Given the description of an element on the screen output the (x, y) to click on. 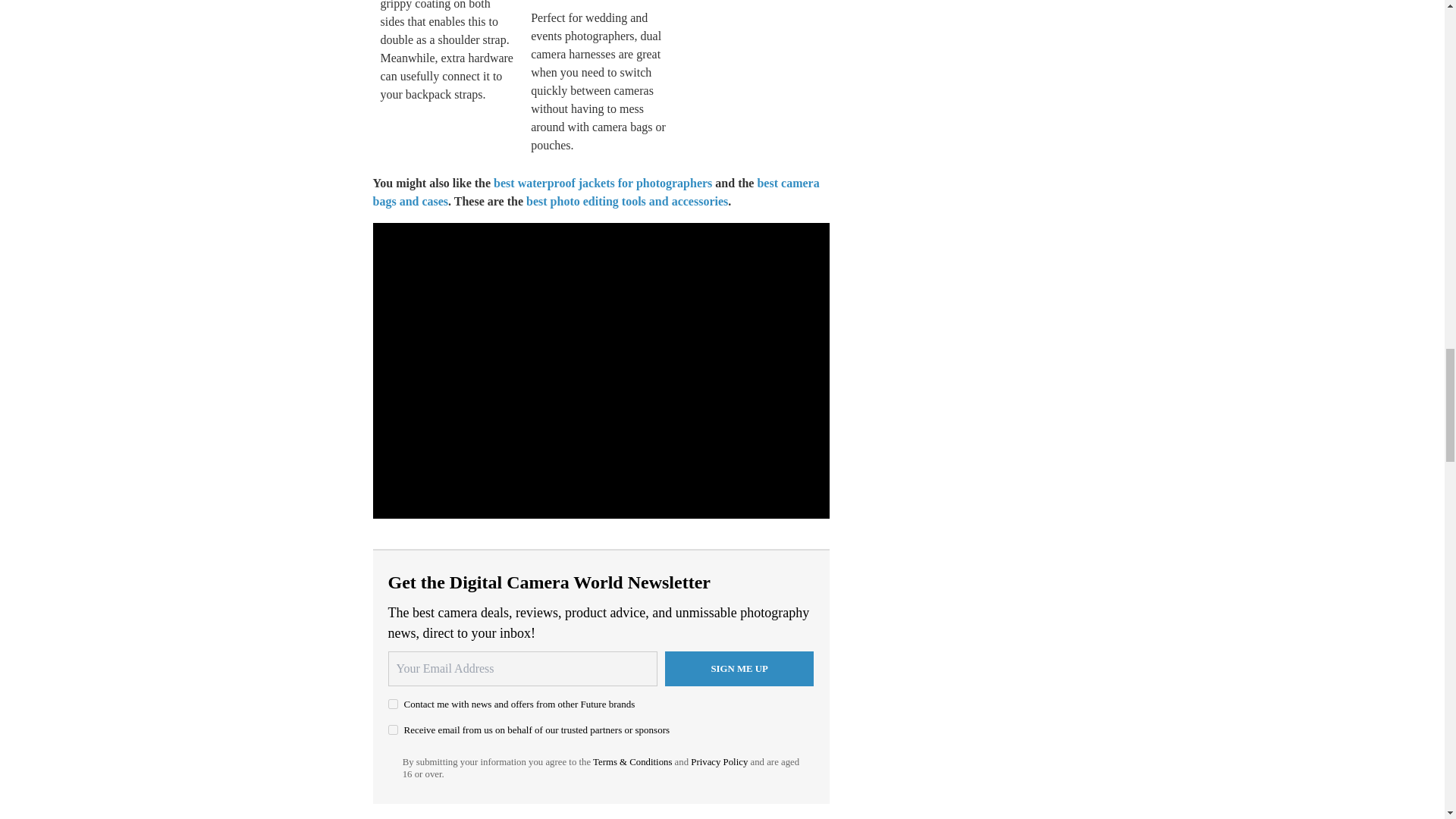
Sign me up (739, 668)
on (392, 729)
on (392, 704)
